Given the description of an element on the screen output the (x, y) to click on. 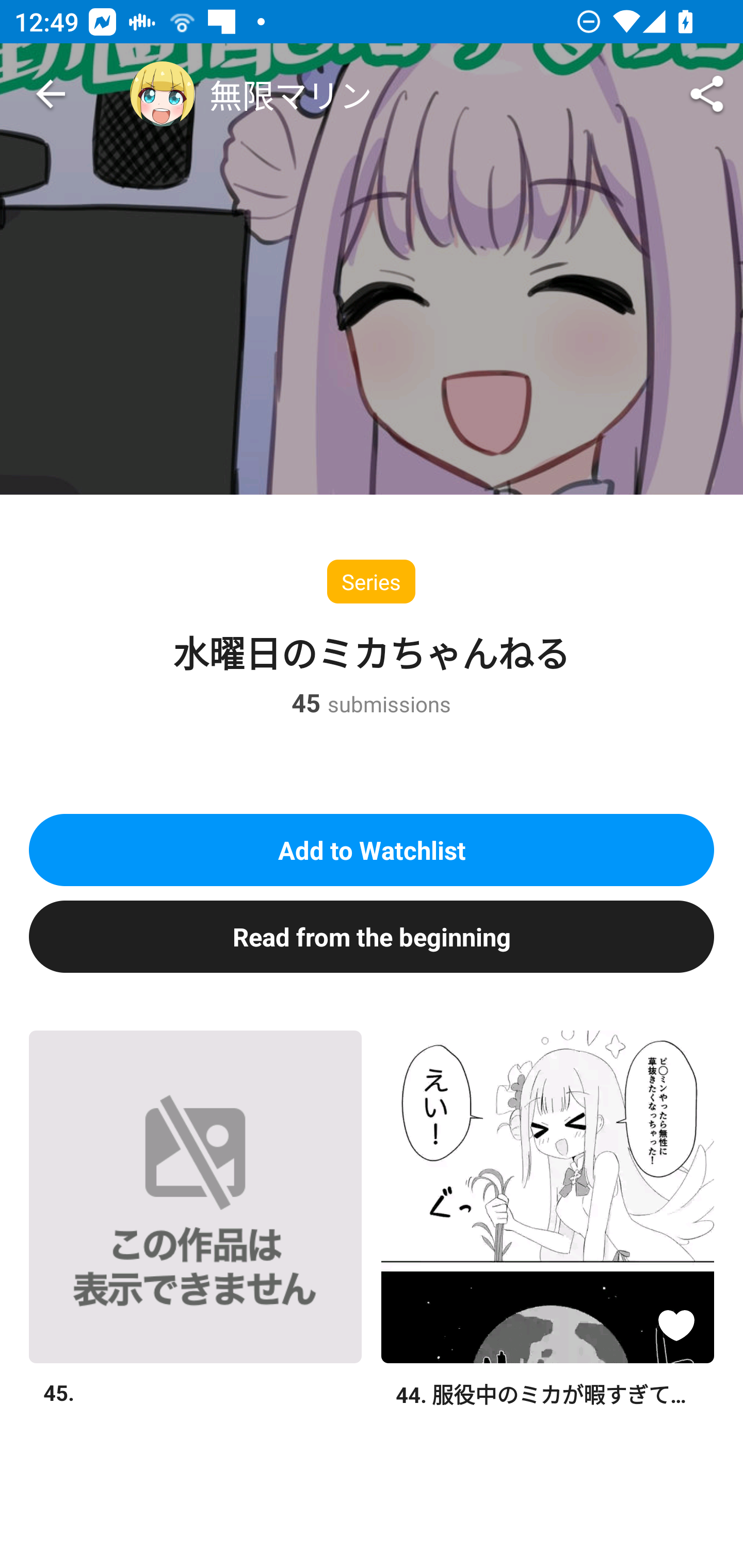
Navigate up (50, 93)
Share (706, 93)
無限マリン (251, 94)
Add to Watchlist (371, 849)
Read from the beginning (371, 936)
